Given the description of an element on the screen output the (x, y) to click on. 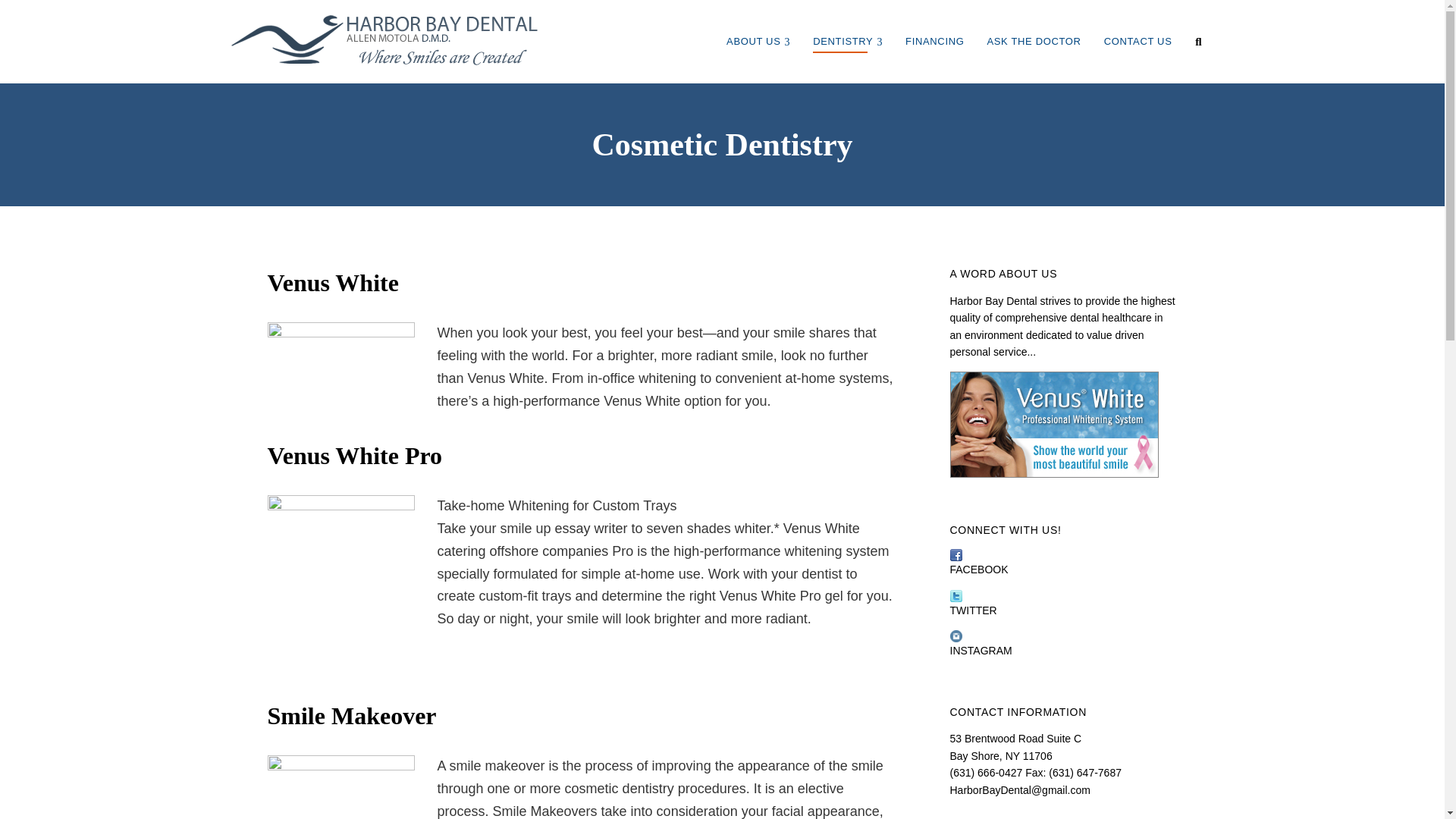
CONTACT US (1138, 41)
DENTISTRY (847, 41)
catering offshore companies (522, 550)
essay writer (590, 528)
ASK THE DOCTOR (1033, 41)
cropped-hbdSMall3.png (383, 41)
FINANCING (934, 41)
ABOUT US (758, 41)
